Given the description of an element on the screen output the (x, y) to click on. 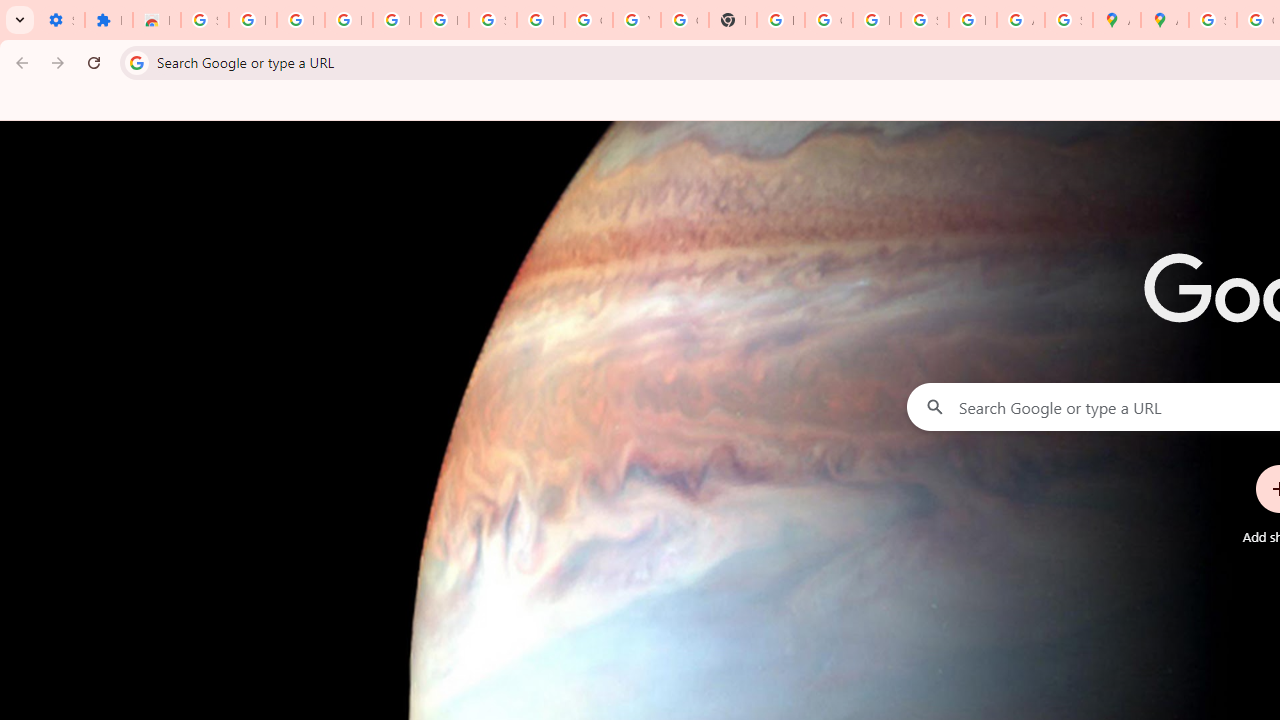
Safety in Our Products - Google Safety Center (1068, 20)
Settings - On startup (60, 20)
New Tab (732, 20)
Sign in - Google Accounts (1212, 20)
